Given the description of an element on the screen output the (x, y) to click on. 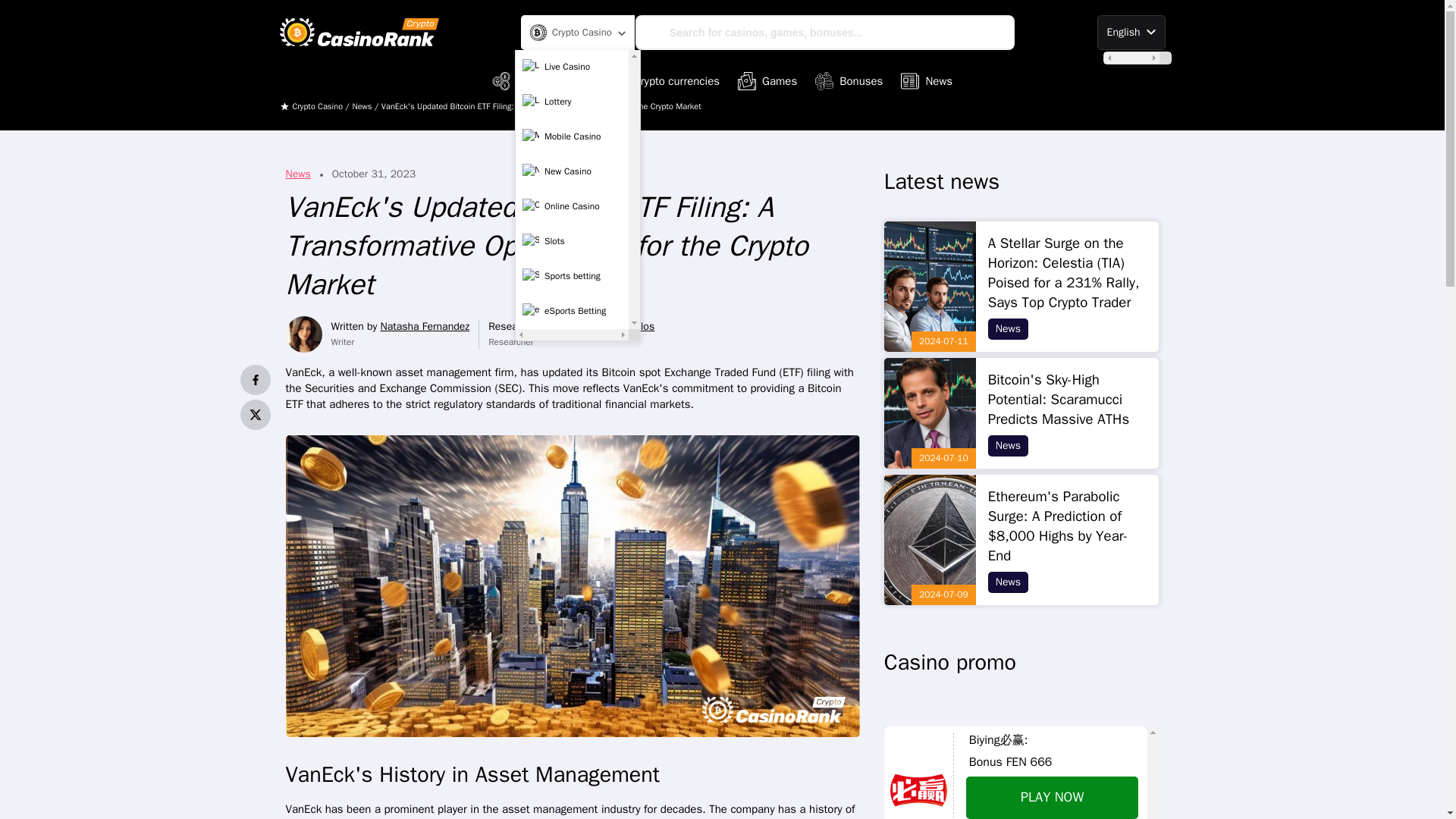
eSports Betting (572, 311)
Sports betting (572, 276)
Live Casino (572, 67)
Lottery (572, 102)
Crypto currencies (665, 80)
Crypto Casinos (541, 80)
Games (767, 80)
Mobile Casino (572, 136)
Bonuses (848, 80)
Slots (572, 241)
New Casino (572, 172)
Online Casino (572, 206)
News (926, 80)
